Given the description of an element on the screen output the (x, y) to click on. 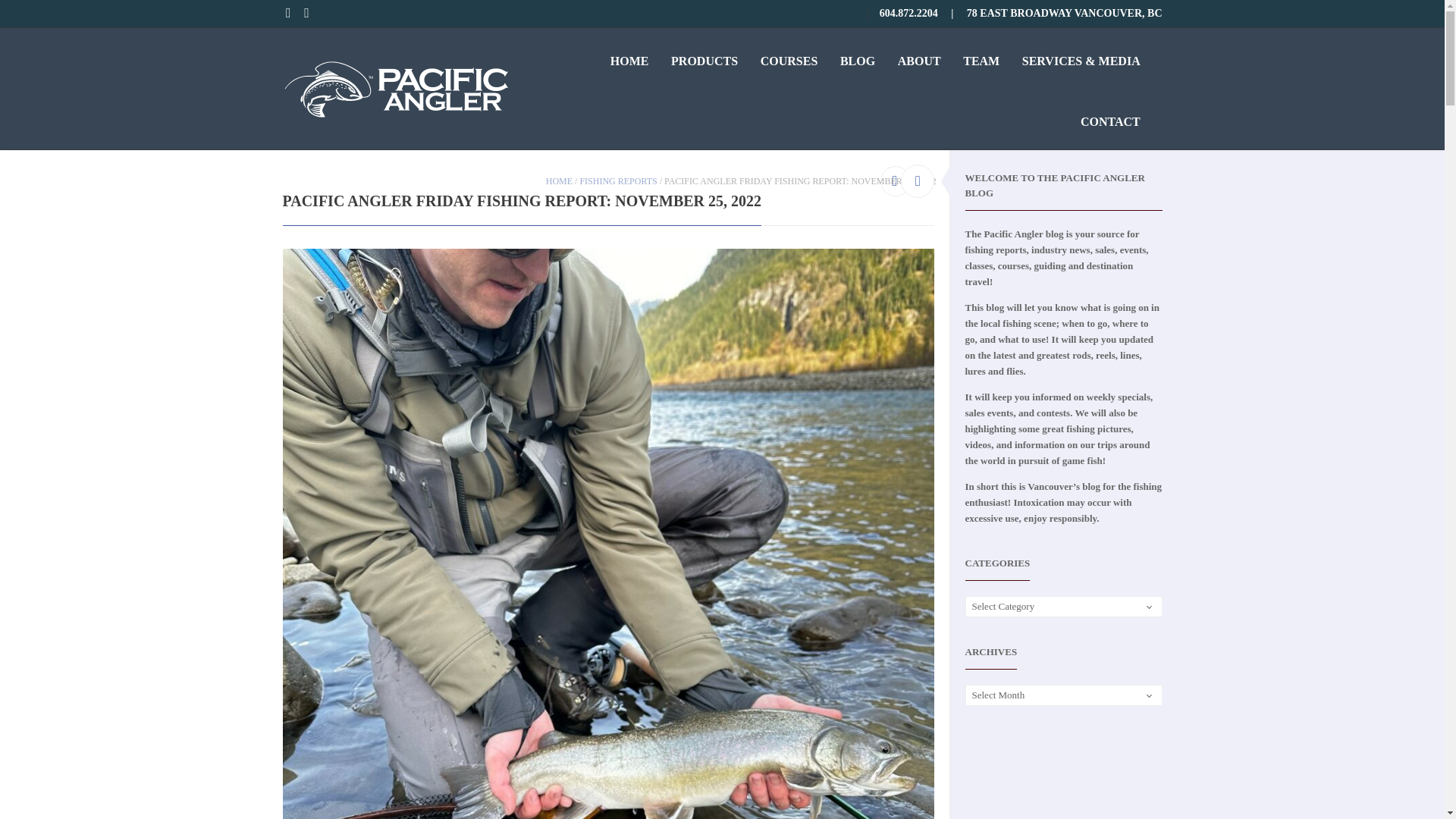
604.872.2204 (908, 13)
CONTACT (1109, 118)
PRODUCTS (703, 57)
Select Category (1063, 606)
COURSES (789, 57)
Select Month (1063, 695)
78 EAST BROADWAY VANCOUVER, BC (1063, 13)
